Given the description of an element on the screen output the (x, y) to click on. 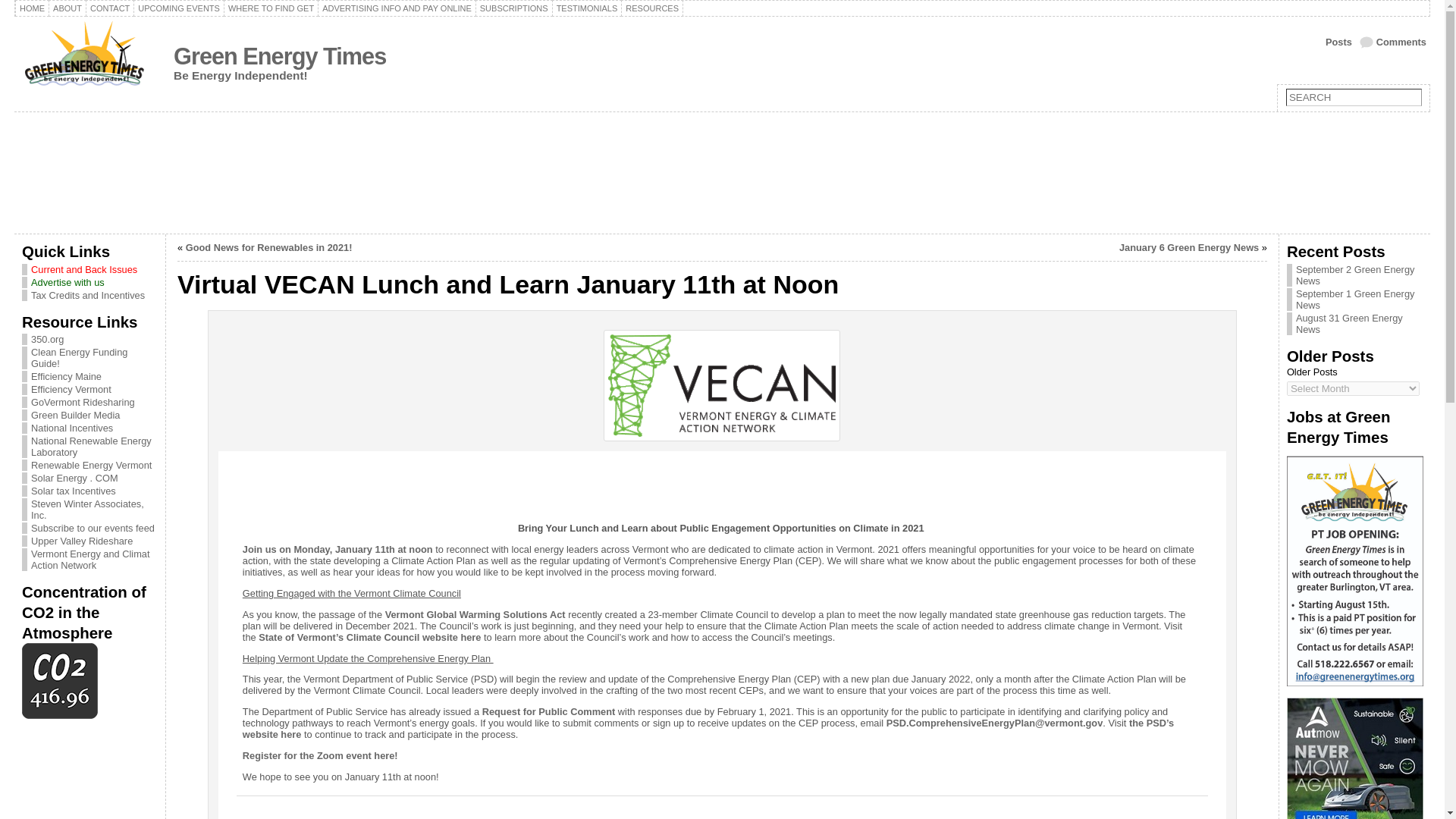
Solar Energy . COM (73, 478)
WHERE TO FIND GET (271, 8)
Subscribe to the COMMENTS feed (1392, 42)
Clean Energy Funding Guide! (79, 357)
350.org (47, 338)
National Incentives (71, 428)
the authority on all things solar (73, 478)
Vermont Energy and Climat Action Network (89, 558)
CONTACT (109, 8)
UPCOMING EVENTS (178, 8)
